Given the description of an element on the screen output the (x, y) to click on. 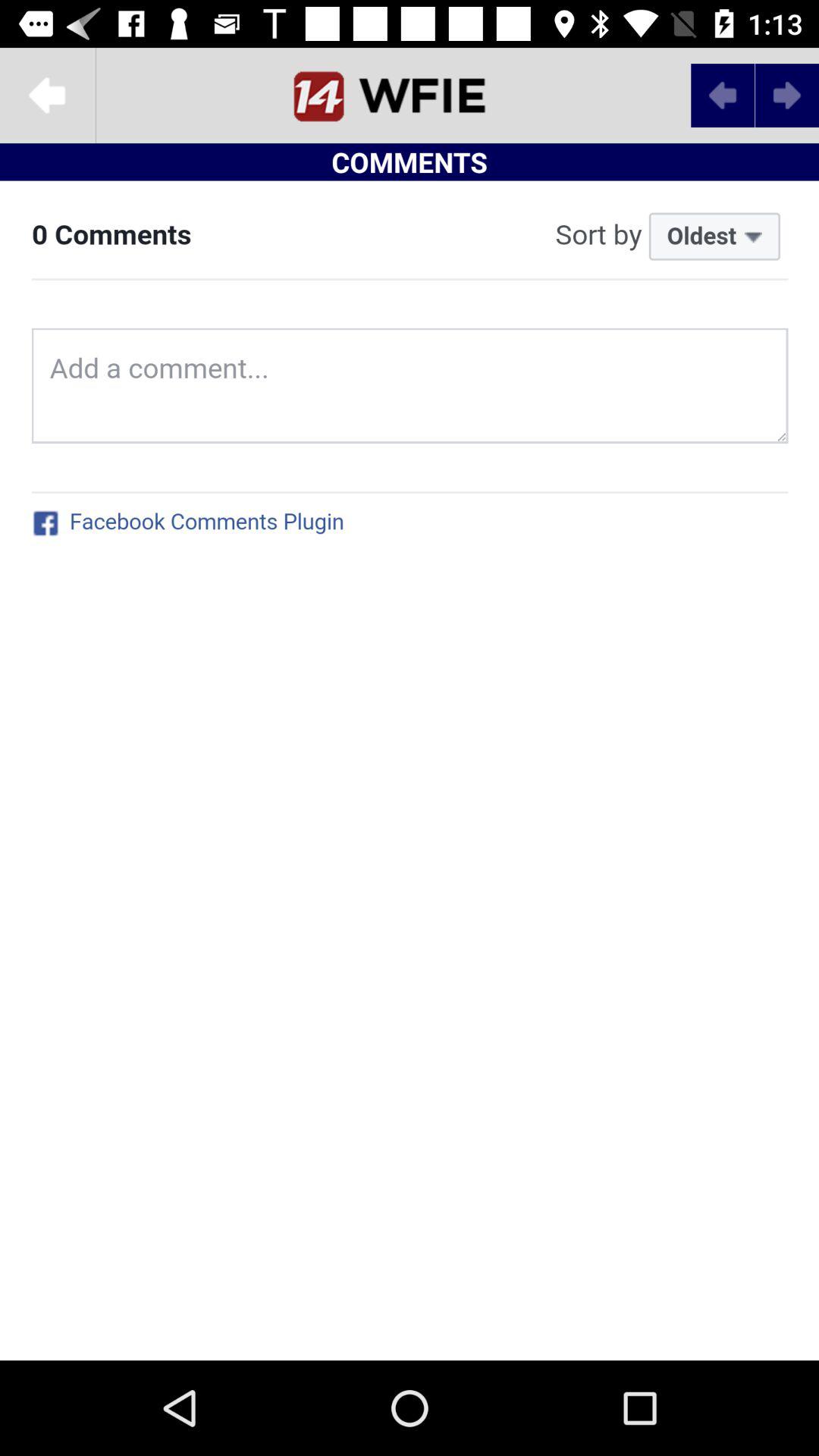
go back (47, 95)
